Given the description of an element on the screen output the (x, y) to click on. 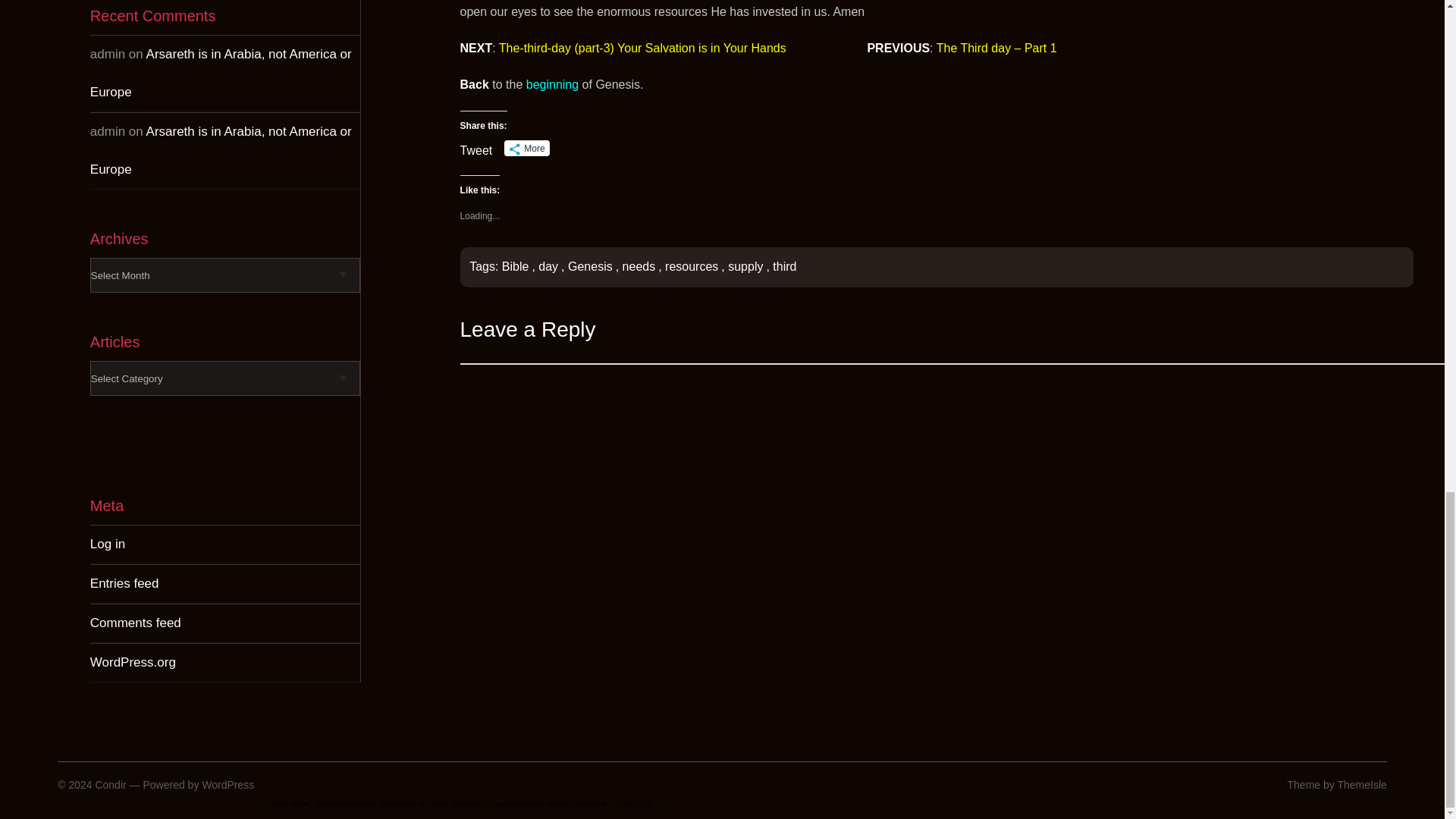
Bible (515, 266)
resources (691, 266)
Arsareth is in Arabia, not America or Europe (221, 72)
WordPress.org (133, 662)
Tweet (476, 146)
Arsareth is in Arabia, not America or Europe (221, 150)
needs (639, 266)
Log in (107, 544)
Comments feed (135, 622)
beginning (551, 83)
